Given the description of an element on the screen output the (x, y) to click on. 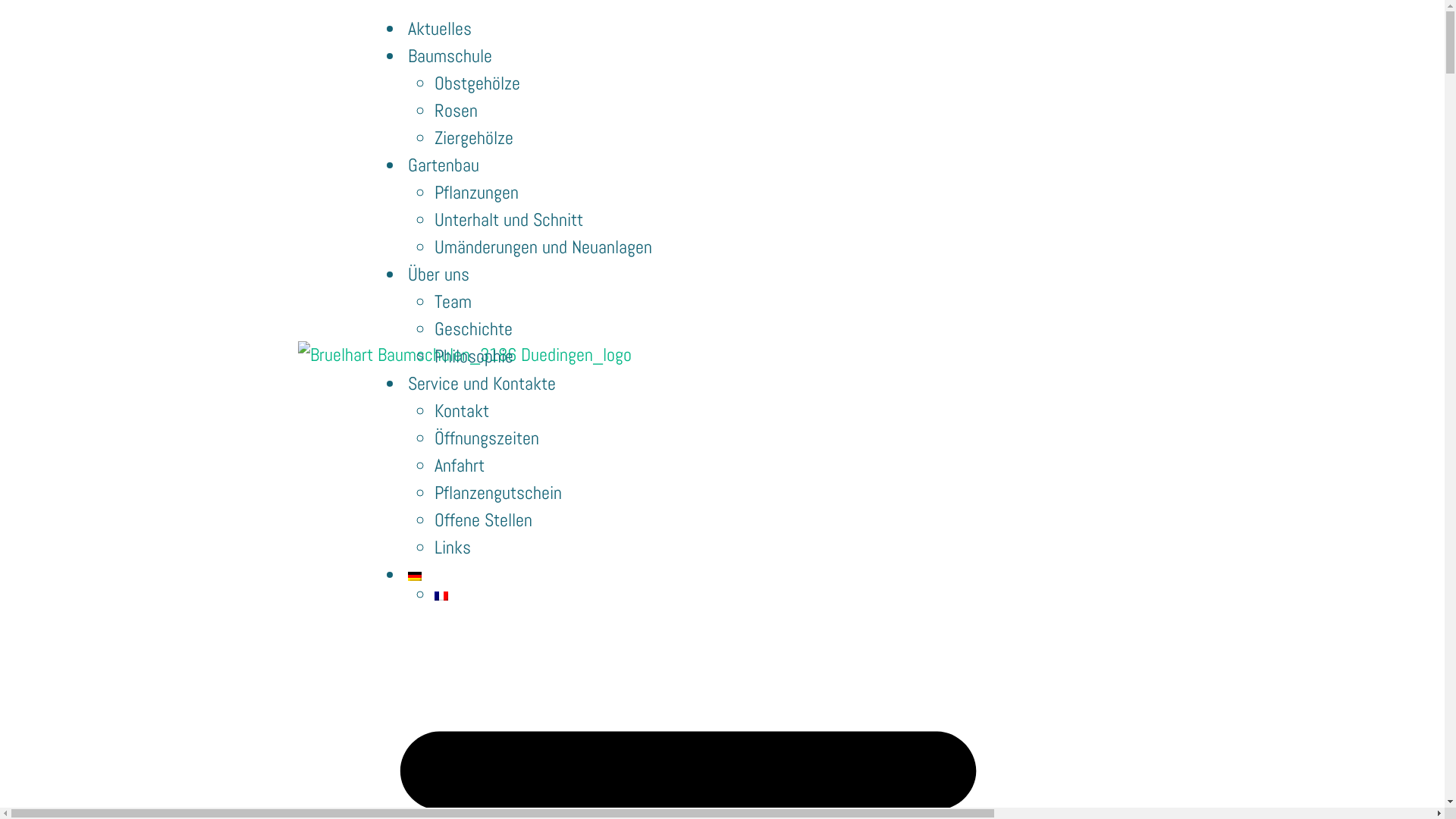
Aktuelles Element type: text (439, 28)
Rosen Element type: text (455, 110)
Offene Stellen Element type: text (483, 519)
Links Element type: text (452, 546)
Philosophie Element type: text (473, 355)
Service und Kontakte Element type: text (481, 383)
Anfahrt Element type: text (459, 464)
Pflanzengutschein Element type: text (497, 492)
Team Element type: text (452, 301)
Geschichte Element type: text (473, 328)
Unterhalt und Schnitt Element type: text (508, 219)
Pflanzungen Element type: text (476, 191)
Kontakt Element type: text (461, 410)
Gartenbau Element type: text (443, 164)
Baumschule Element type: text (449, 55)
